Given the description of an element on the screen output the (x, y) to click on. 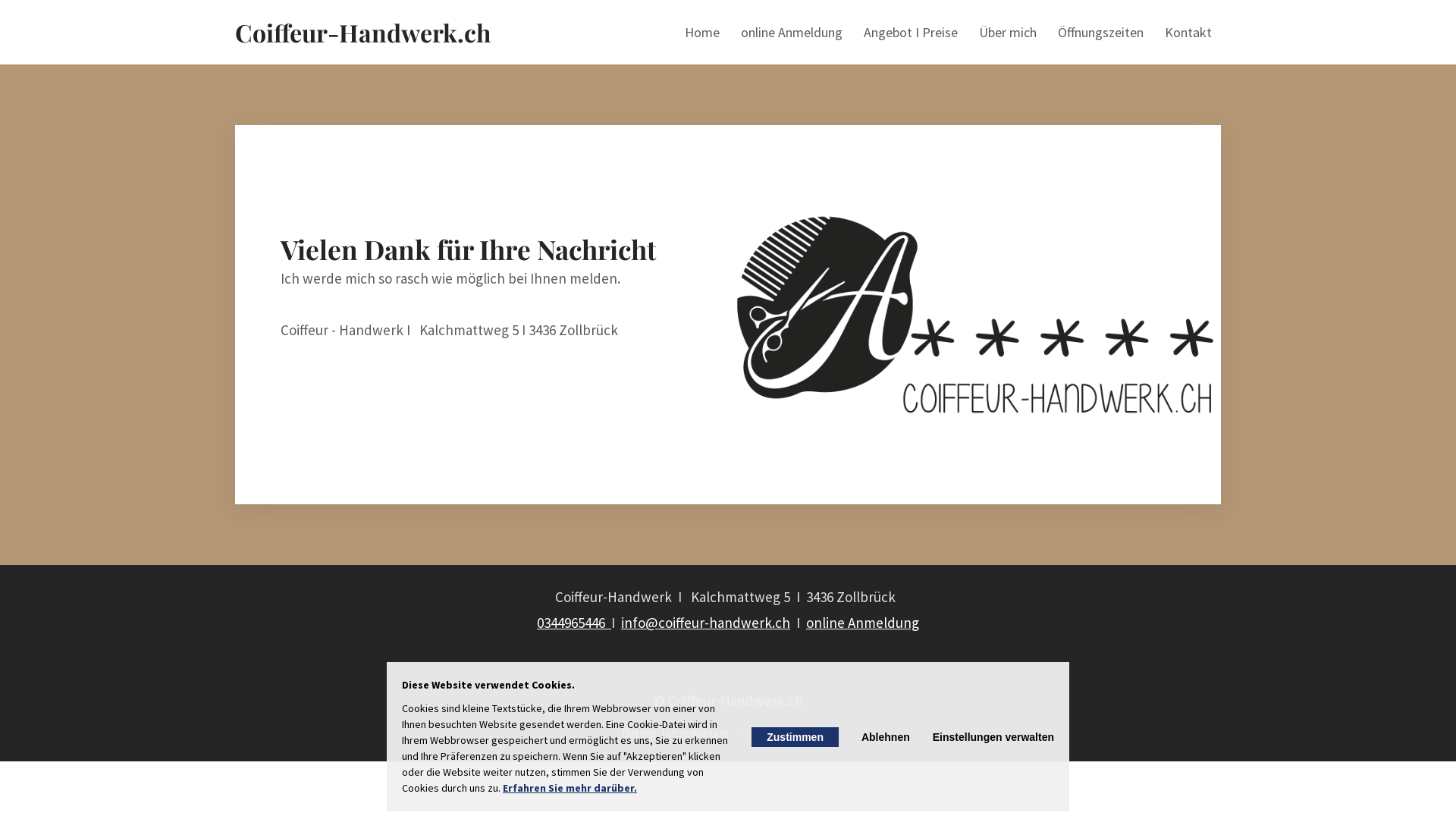
Zustimmen Element type: text (794, 736)
Cookie Element type: text (774, 733)
info@coiffeur-handwerk.ch Element type: text (705, 622)
Kontakt Element type: text (1187, 32)
Coiffeur-Handwerk.ch Element type: text (362, 31)
AGBs Element type: text (821, 733)
Home Element type: text (701, 32)
Angebot I Preise Element type: text (910, 32)
Einstellungen verwalten Element type: text (993, 736)
online Anmeldung Element type: text (791, 32)
Ablehnen Element type: text (885, 736)
0344965446  Element type: text (573, 622)
online Anmeldung Element type: text (862, 622)
